Given the description of an element on the screen output the (x, y) to click on. 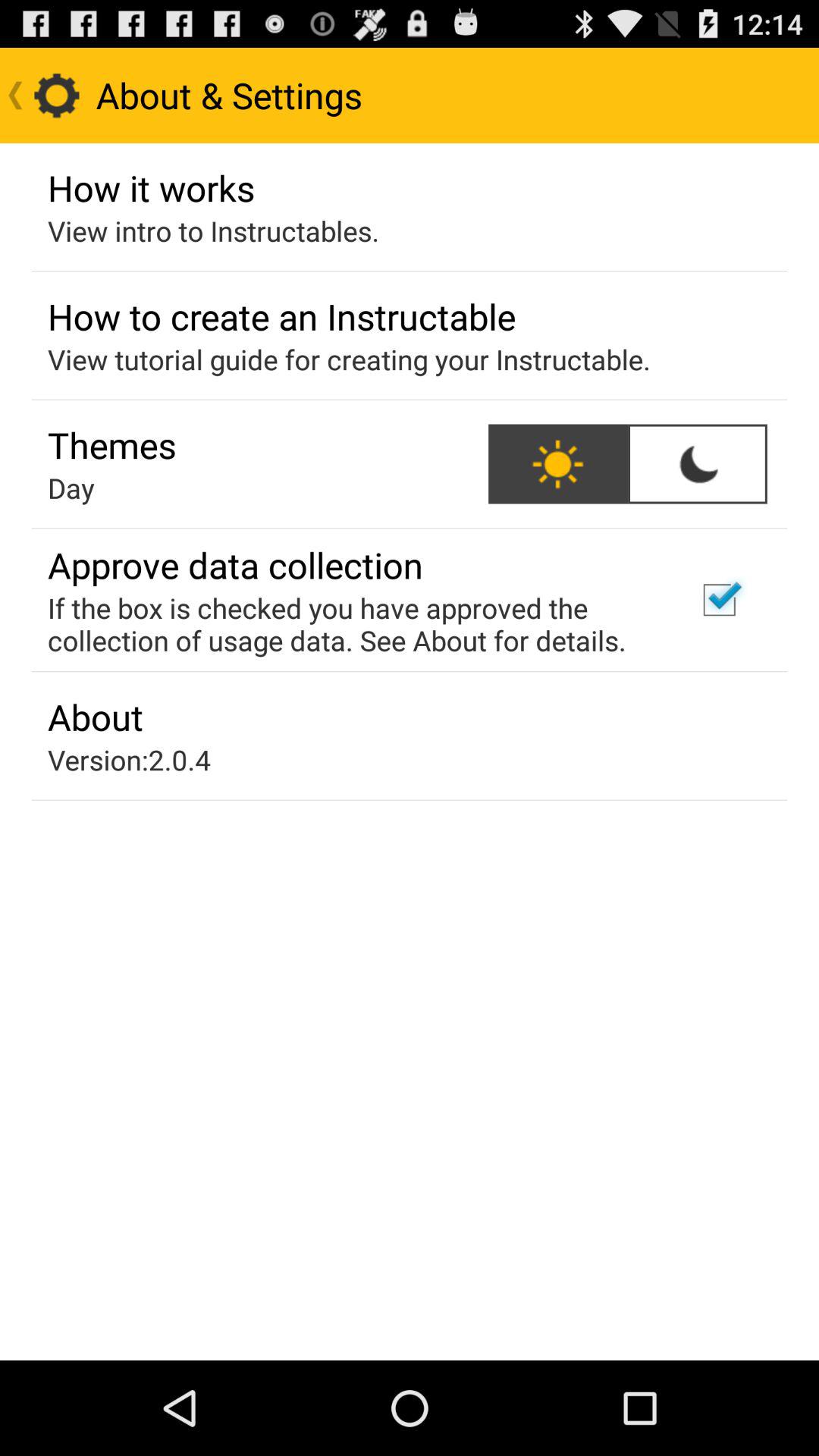
tap the checkbox which is just right to approve data collection (719, 599)
